Given the description of an element on the screen output the (x, y) to click on. 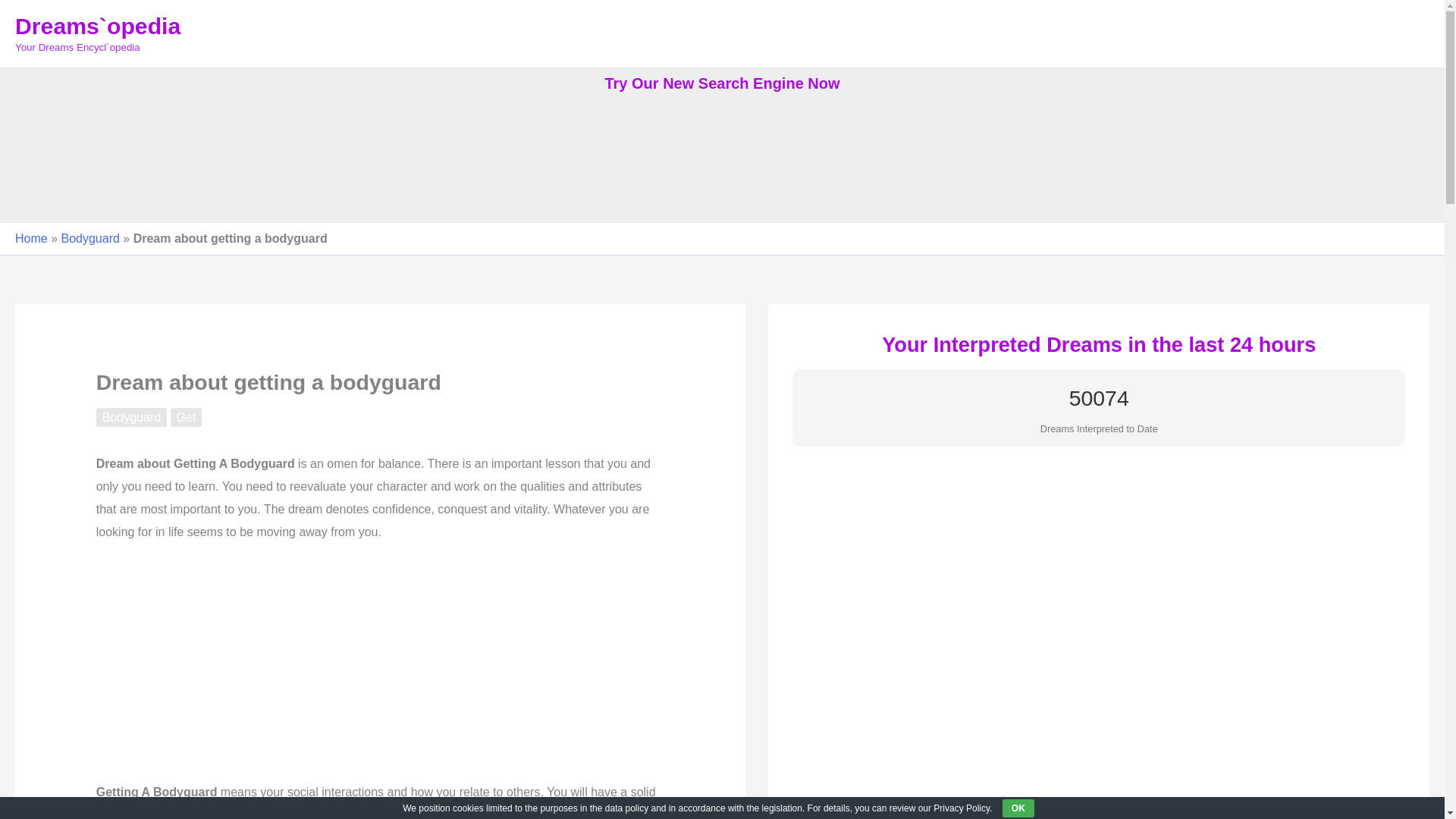
Bodyguard (131, 416)
Bodyguard (90, 237)
Home (31, 237)
Get (186, 416)
